Given the description of an element on the screen output the (x, y) to click on. 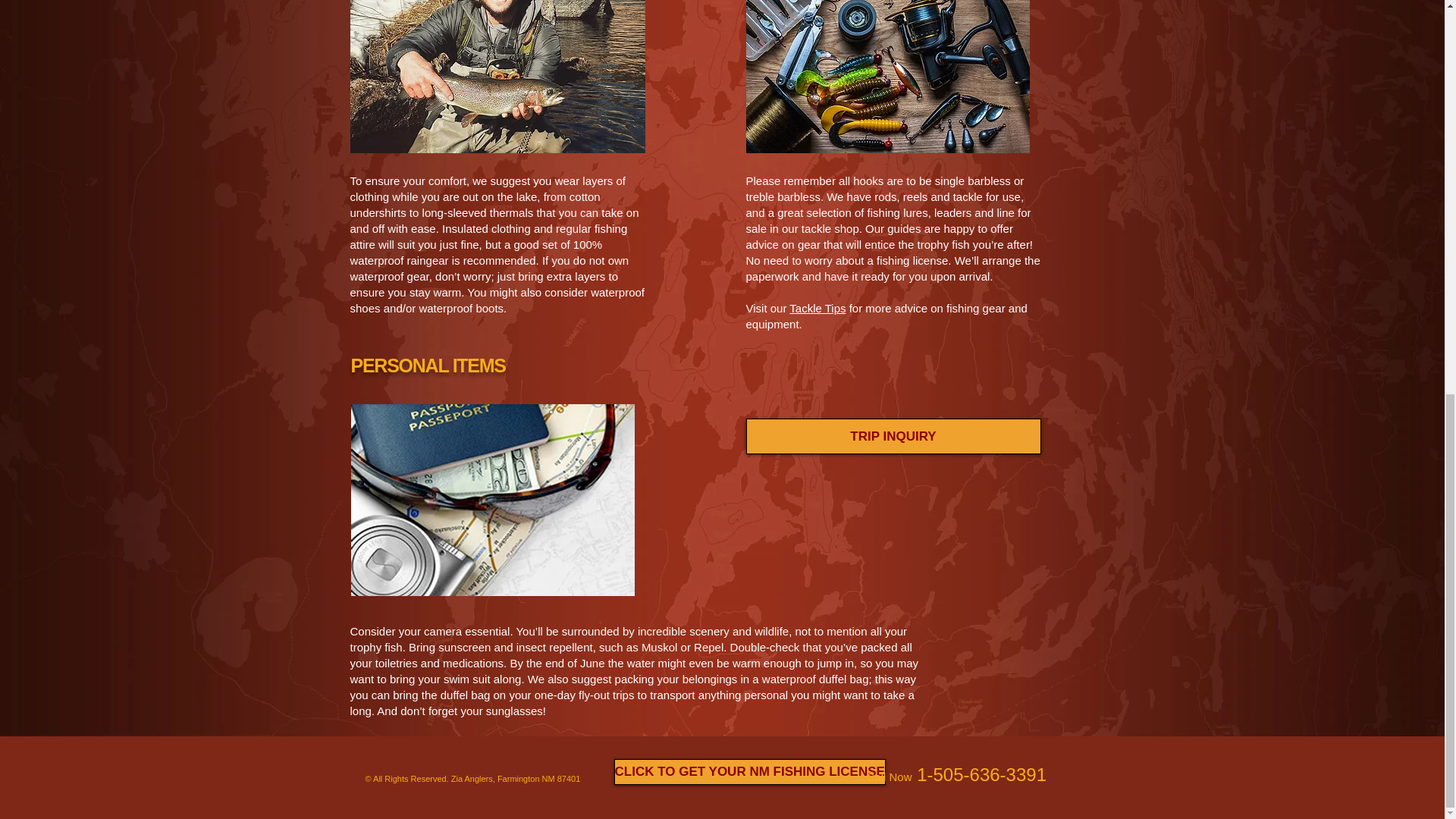
CLICK TO GET YOUR NM FISHING LICENSE (749, 771)
Call Now 1-505-636-3391 (956, 774)
Tackle Tips (817, 308)
TRIP INQUIRY (893, 436)
